Given the description of an element on the screen output the (x, y) to click on. 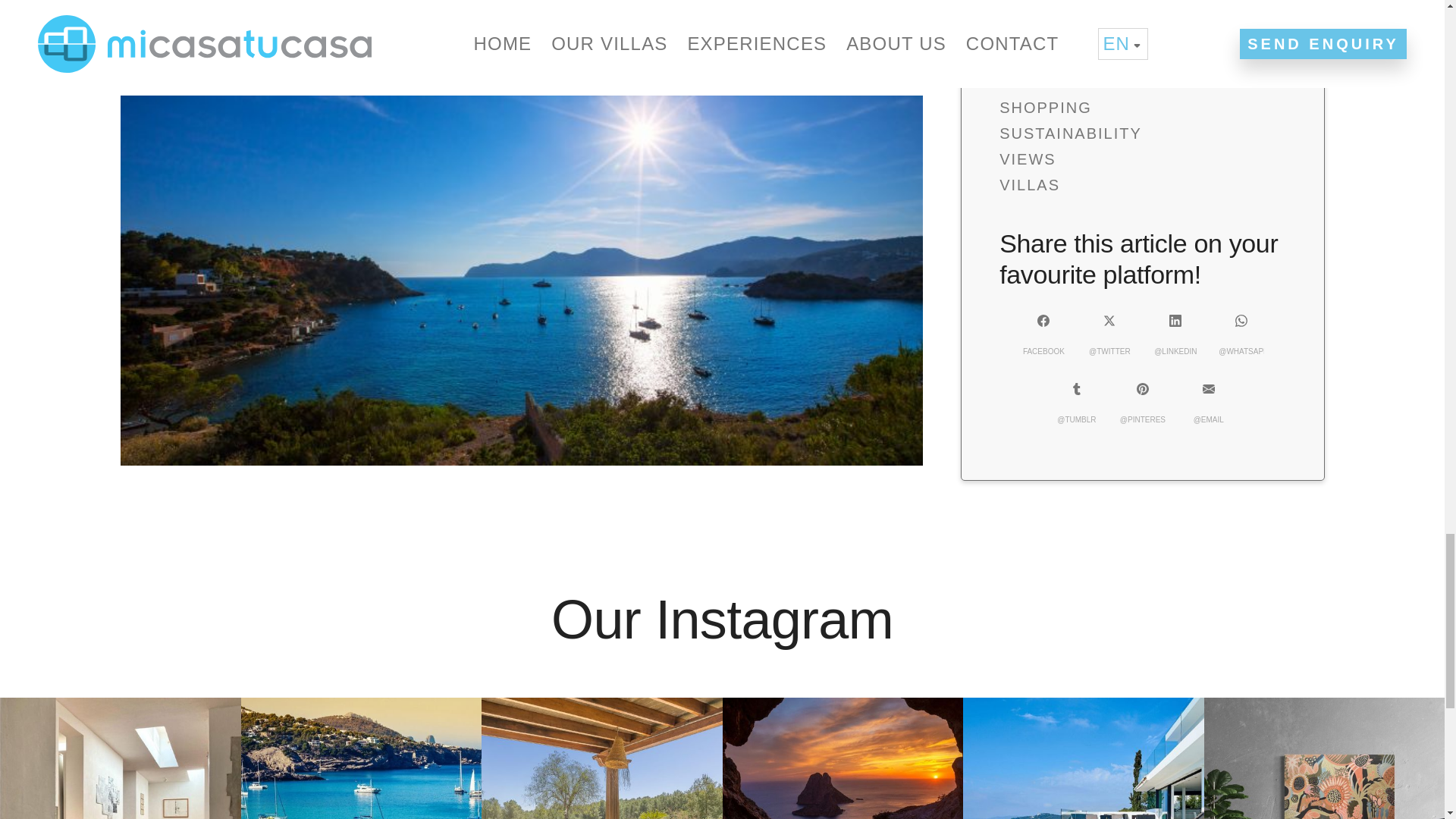
Hiking (269, 9)
